Given the description of an element on the screen output the (x, y) to click on. 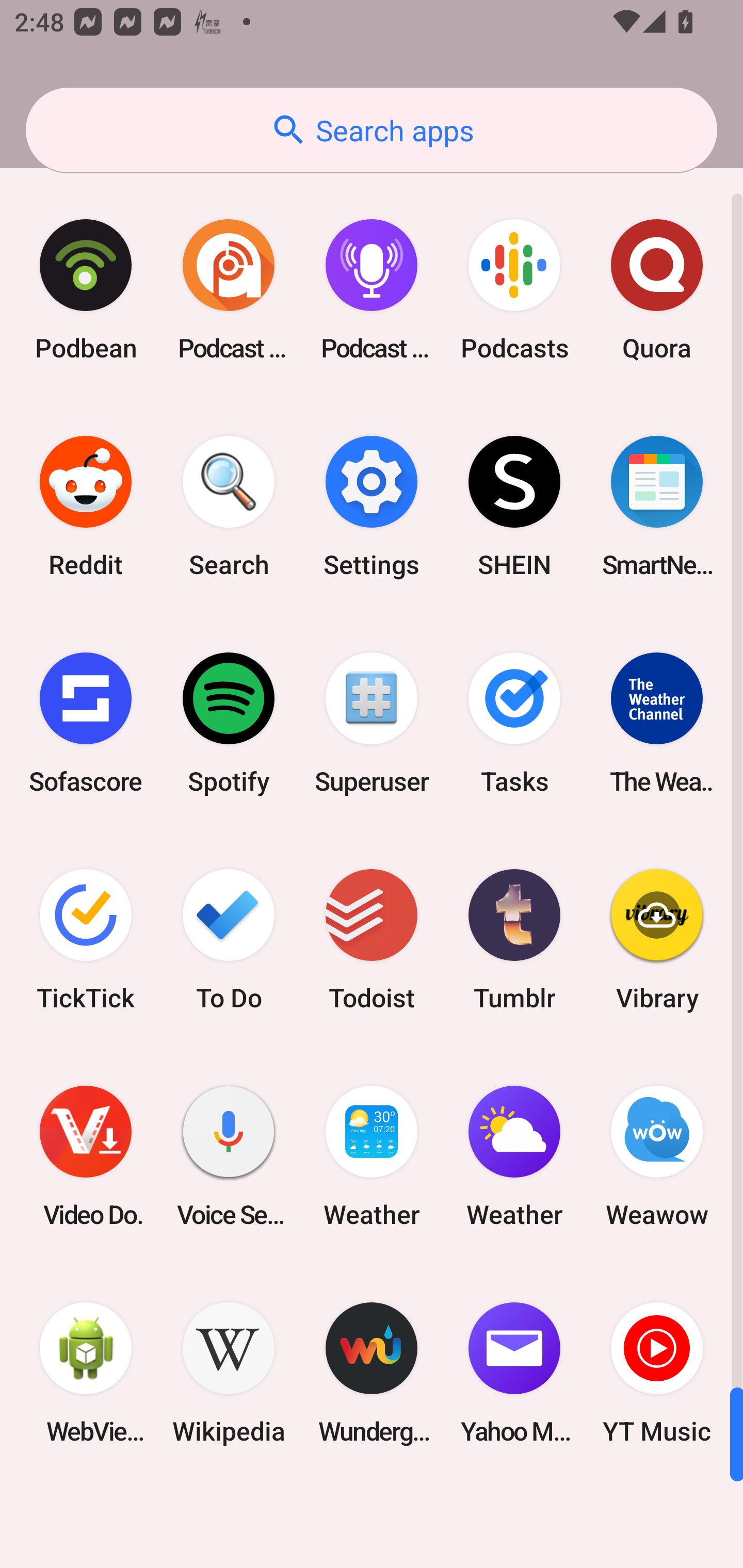
  Search apps (371, 130)
Podbean (85, 289)
Podcast Addict (228, 289)
Podcast Player (371, 289)
Podcasts (514, 289)
Quora (656, 289)
Reddit (85, 506)
Search (228, 506)
Settings (371, 506)
SHEIN (514, 506)
SmartNews (656, 506)
Sofascore (85, 722)
Spotify (228, 722)
Superuser (371, 722)
Tasks (514, 722)
The Weather Channel (656, 722)
TickTick (85, 939)
To Do (228, 939)
Todoist (371, 939)
Tumblr (514, 939)
Vibrary (656, 939)
Video Downloader & Ace Player (85, 1156)
Voice Search (228, 1156)
Weather (371, 1156)
Weather (514, 1156)
Weawow (656, 1156)
WebView Browser Tester (85, 1373)
Wikipedia (228, 1373)
Wunderground (371, 1373)
Yahoo Mail (514, 1373)
YT Music (656, 1373)
